Given the description of an element on the screen output the (x, y) to click on. 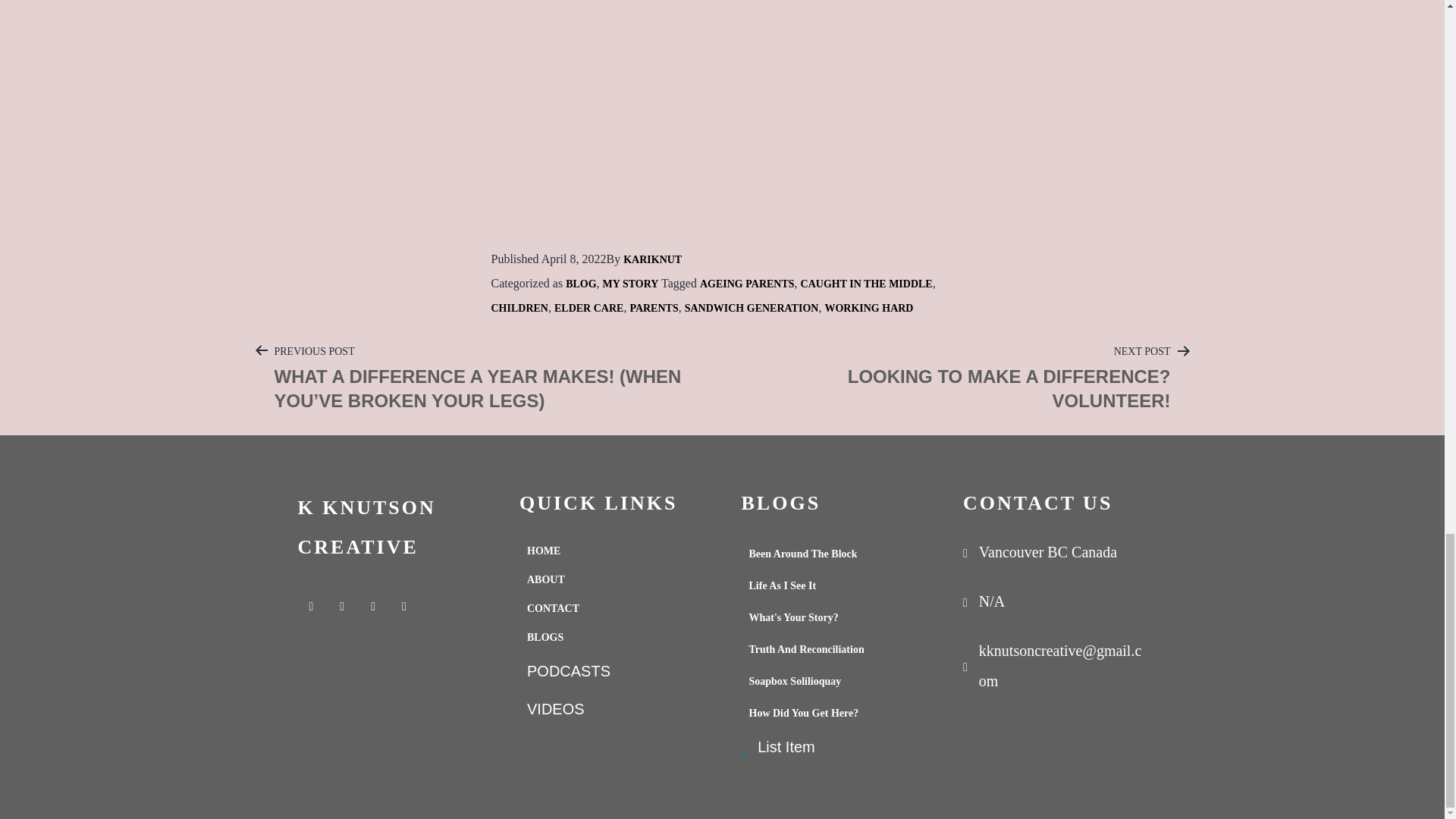
PARENTS (653, 307)
BLOGS (611, 637)
AGEING PARENTS (747, 283)
Soapbox Solilioquay (833, 681)
ELDER CARE (588, 307)
How Did You Get Here? (833, 713)
WORKING HARD (868, 307)
MY STORY (630, 283)
HOME (611, 551)
CONTACT (611, 608)
Been Around The Block (833, 553)
ABOUT (960, 377)
SANDWICH GENERATION (611, 579)
CAUGHT IN THE MIDDLE (751, 307)
